Given the description of an element on the screen output the (x, y) to click on. 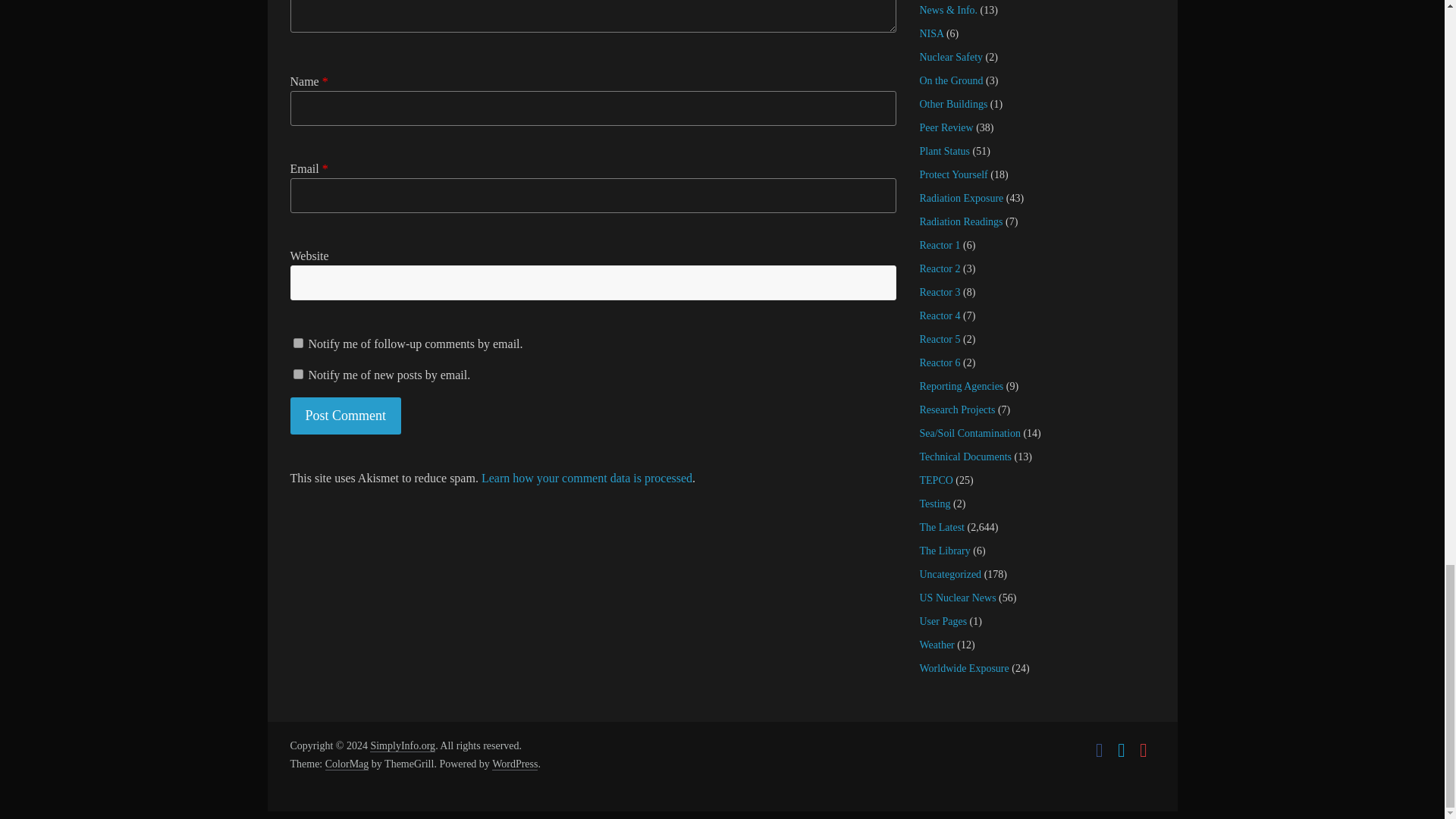
Post Comment (345, 415)
subscribe (297, 343)
subscribe (297, 374)
